Given the description of an element on the screen output the (x, y) to click on. 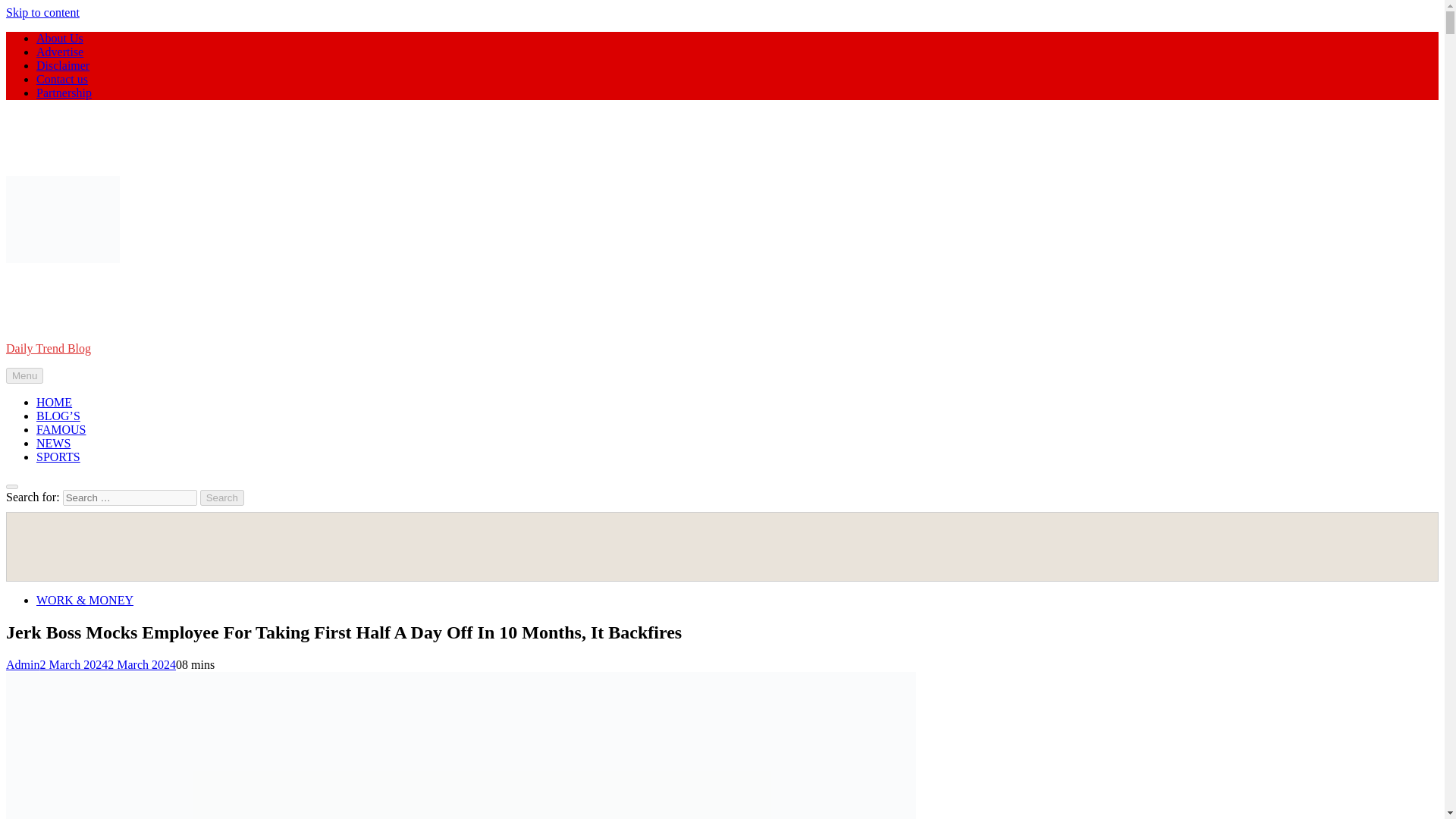
Contact us (61, 78)
FAMOUS (60, 429)
2 March 20242 March 2024 (107, 664)
Daily Trend Blog (47, 348)
Disclaimer (62, 65)
SPORTS (58, 456)
Search (222, 497)
NEWS (52, 442)
About Us (59, 38)
Skip to content (42, 11)
Advertise (59, 51)
HOME (53, 401)
Partnership (63, 92)
Search (222, 497)
